Given the description of an element on the screen output the (x, y) to click on. 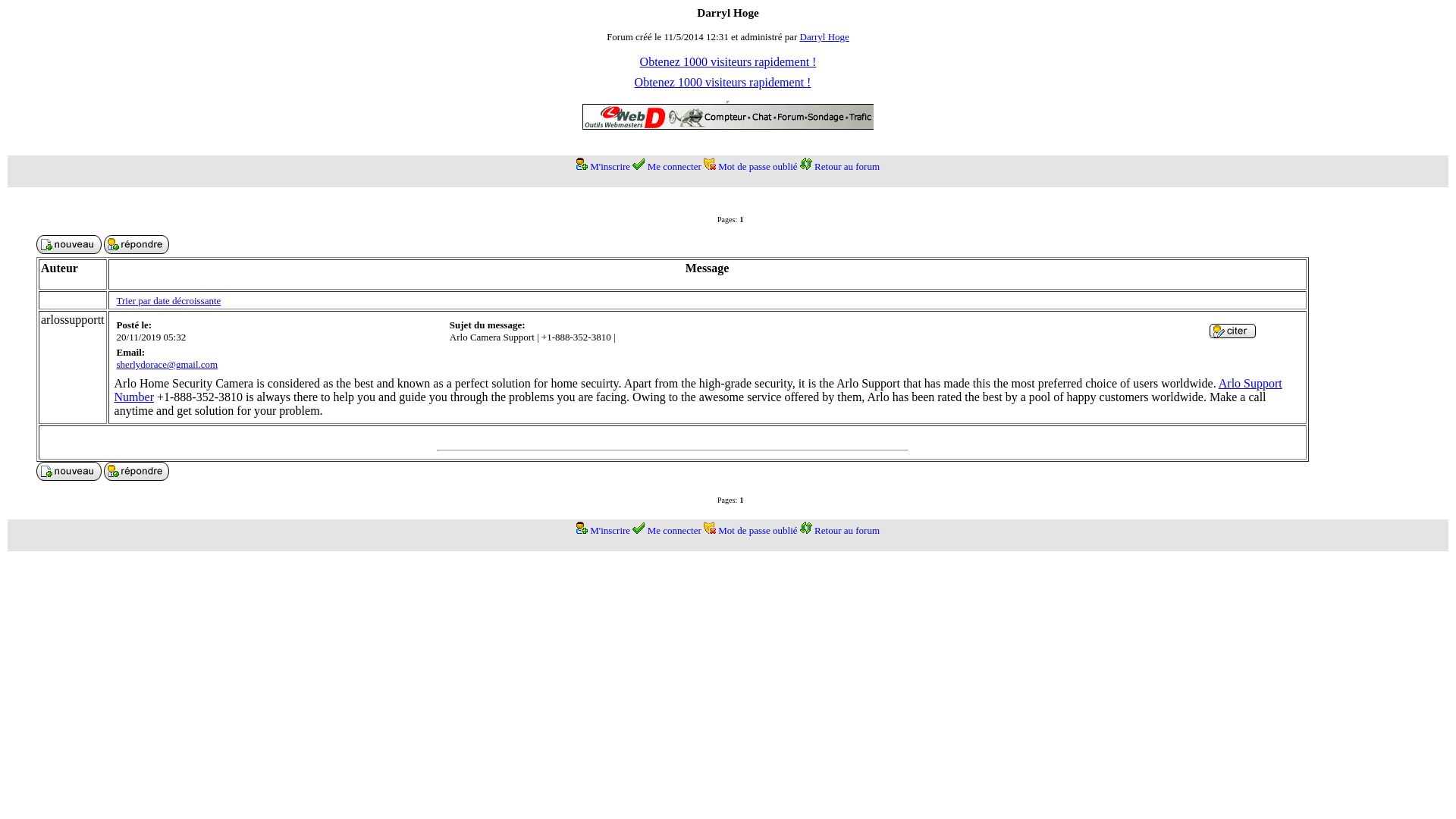
M'inscrire (609, 165)
Me connecter (674, 530)
Retour au forum (846, 165)
Darryl Hoge (823, 36)
Retour au forum (846, 530)
Obtenez 1000 visiteurs rapidement ! (728, 61)
arlossupportt (72, 318)
M'inscrire (609, 530)
Arlo Support Number (698, 389)
Me connecter (674, 165)
Obtenez 1000 visiteurs rapidement ! (722, 82)
